Given the description of an element on the screen output the (x, y) to click on. 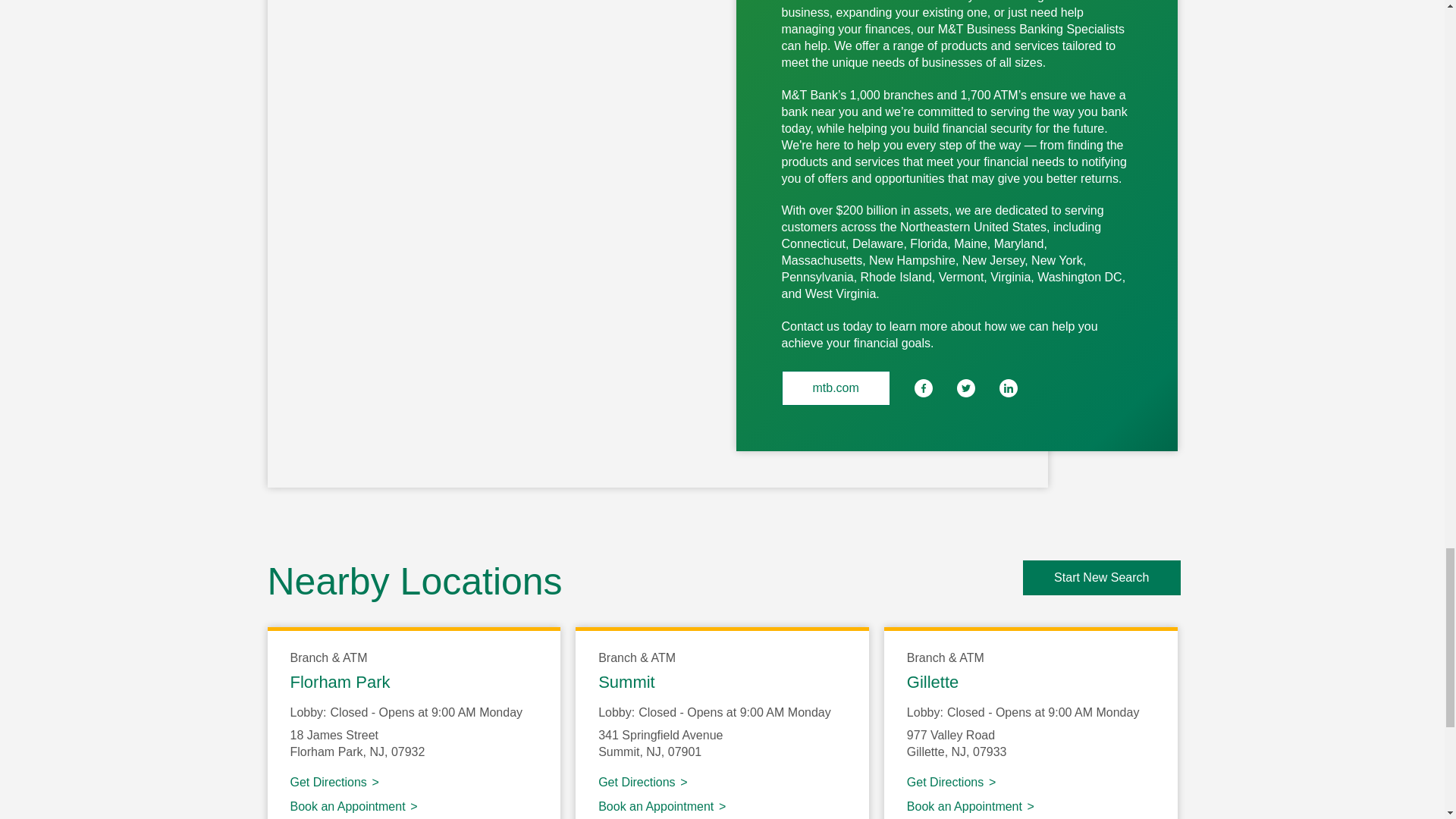
New Jersey (653, 751)
New Jersey (959, 751)
New Jersey (376, 751)
